Given the description of an element on the screen output the (x, y) to click on. 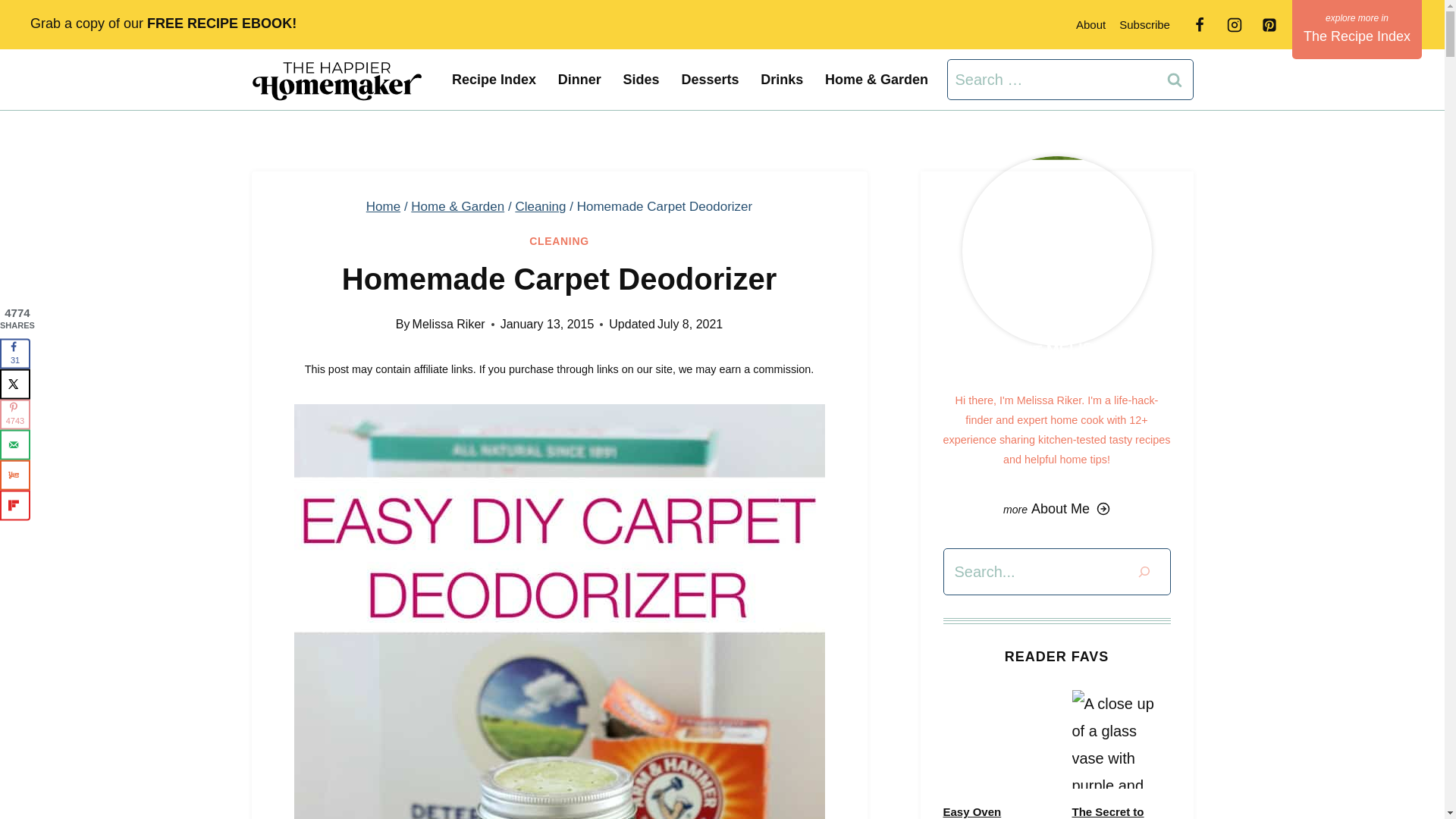
Sides (640, 78)
FREE RECIPE EBOOK (219, 23)
Dinner (579, 78)
Home (383, 206)
Desserts (709, 78)
Cleaning (540, 206)
Subscribe (1144, 24)
Recipe Index (494, 78)
Search (1174, 78)
Drinks (781, 78)
